Given the description of an element on the screen output the (x, y) to click on. 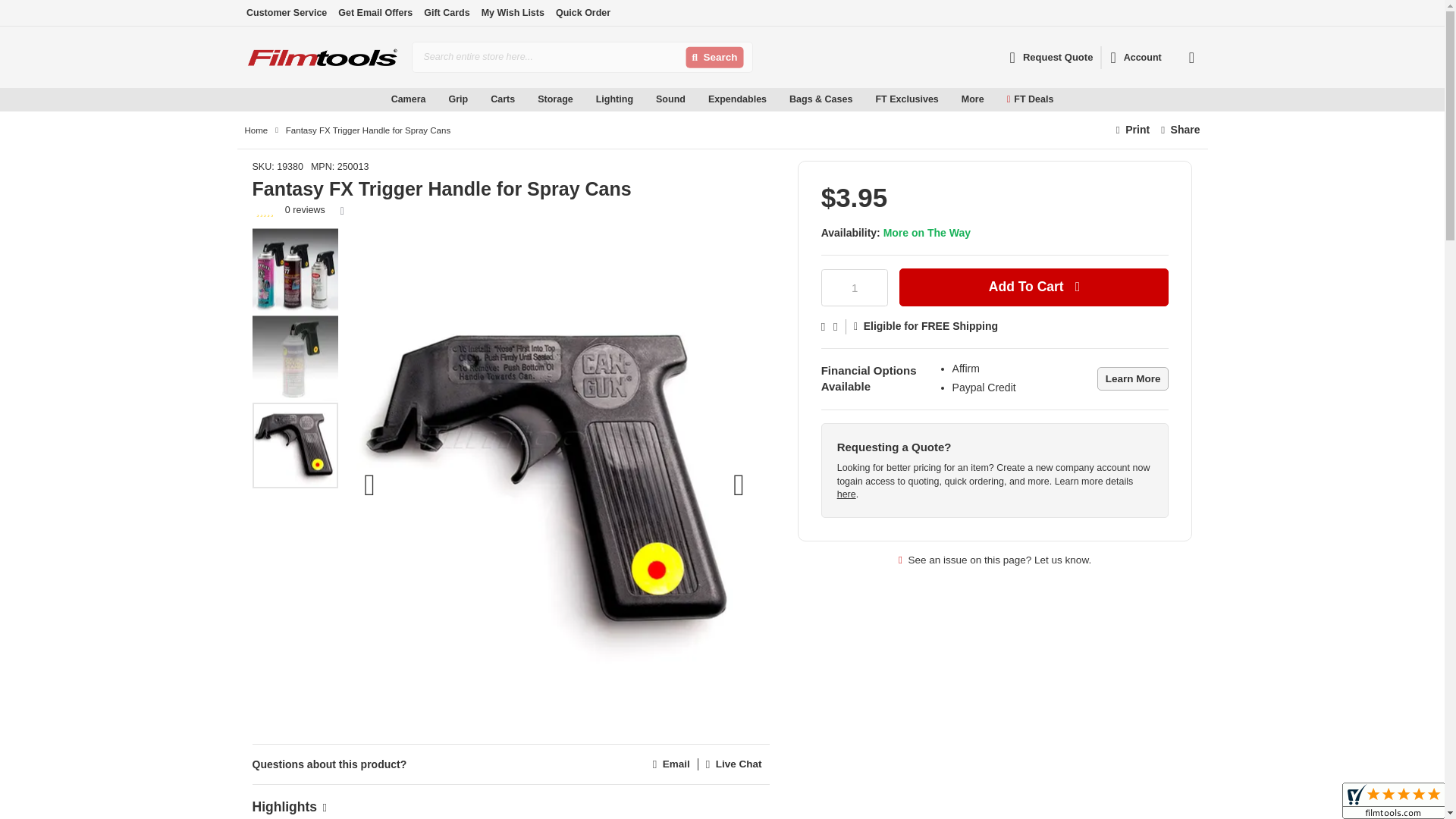
Professional Cine Cameras (330, 116)
Filmtools (321, 57)
Add to Cart (1034, 287)
Qty (854, 286)
Gift Cards (445, 12)
Cameras (330, 116)
Report Issue (994, 559)
Search (713, 57)
Request Quote (1051, 56)
My Wish Lists (512, 12)
Share (1179, 129)
Customer Service (286, 12)
Quick Order (583, 12)
Account (1135, 57)
Print (1133, 129)
